Given the description of an element on the screen output the (x, y) to click on. 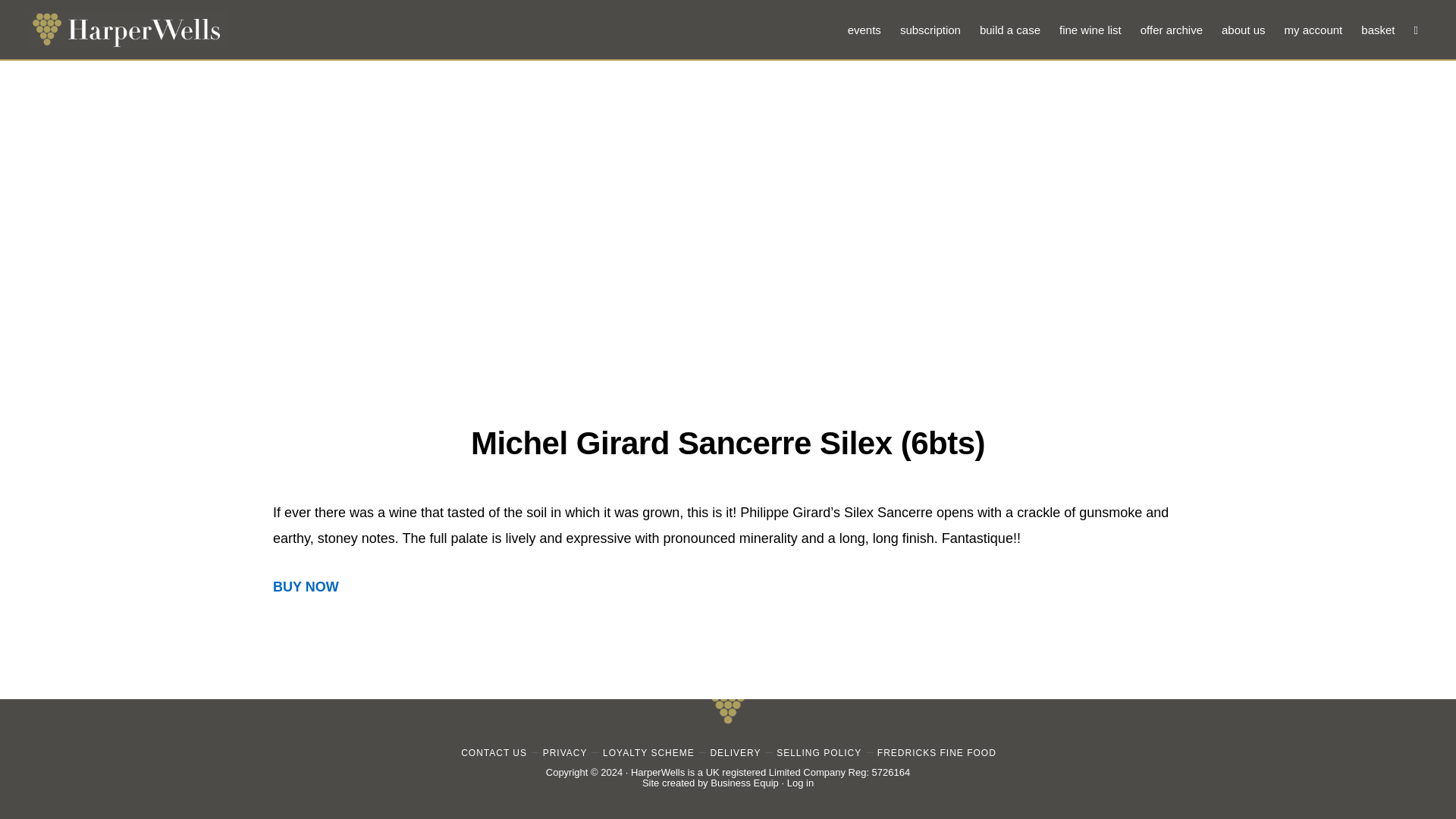
BUY NOW (306, 586)
my account (1313, 29)
subscription (930, 29)
fine wine list (1090, 29)
about us (1243, 29)
basket (1378, 29)
build a case (1010, 29)
events (864, 29)
offer archive (1170, 29)
